Given the description of an element on the screen output the (x, y) to click on. 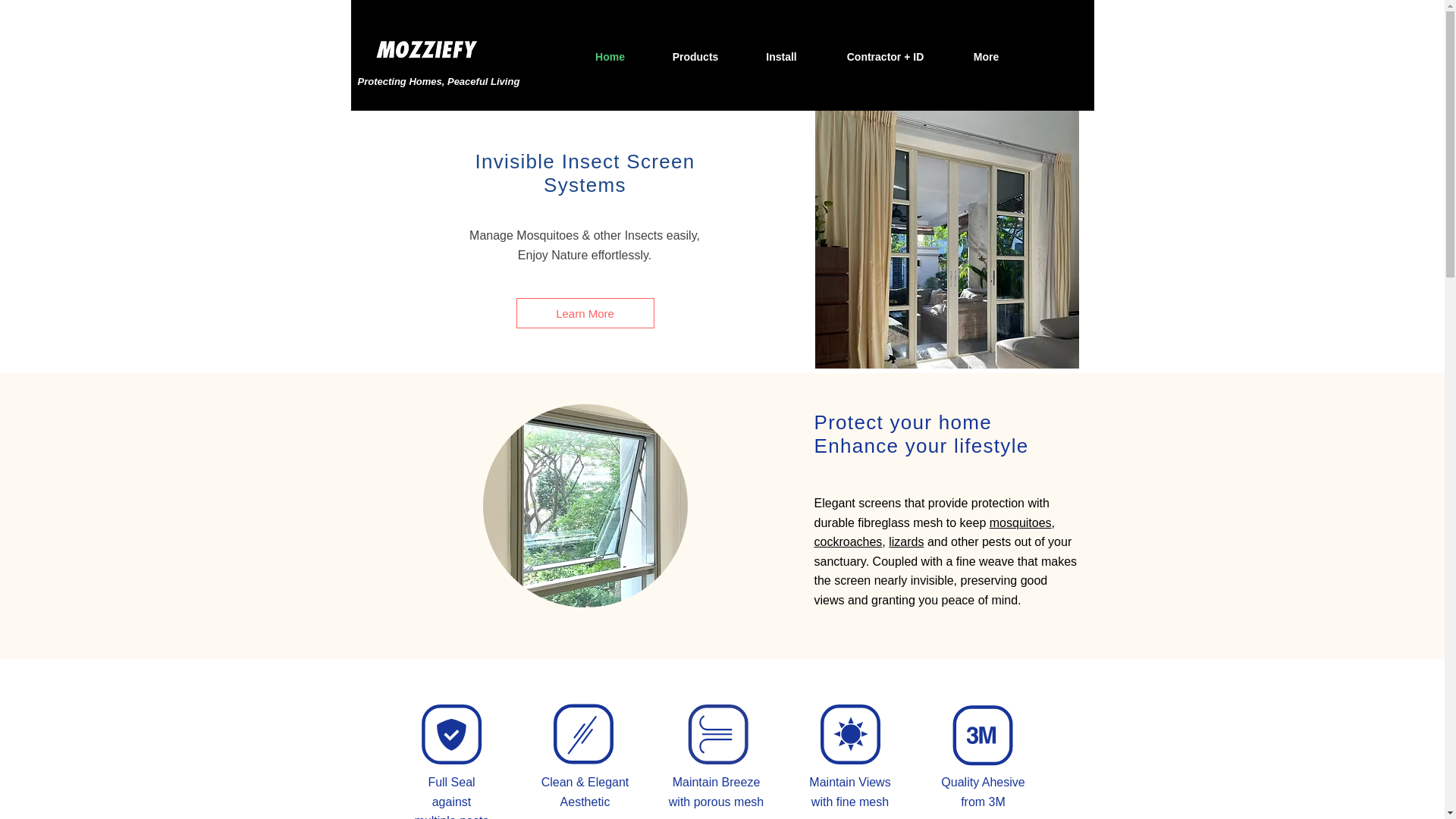
Learn More (584, 313)
Home (609, 56)
Products (694, 56)
Install (781, 56)
